Given the description of an element on the screen output the (x, y) to click on. 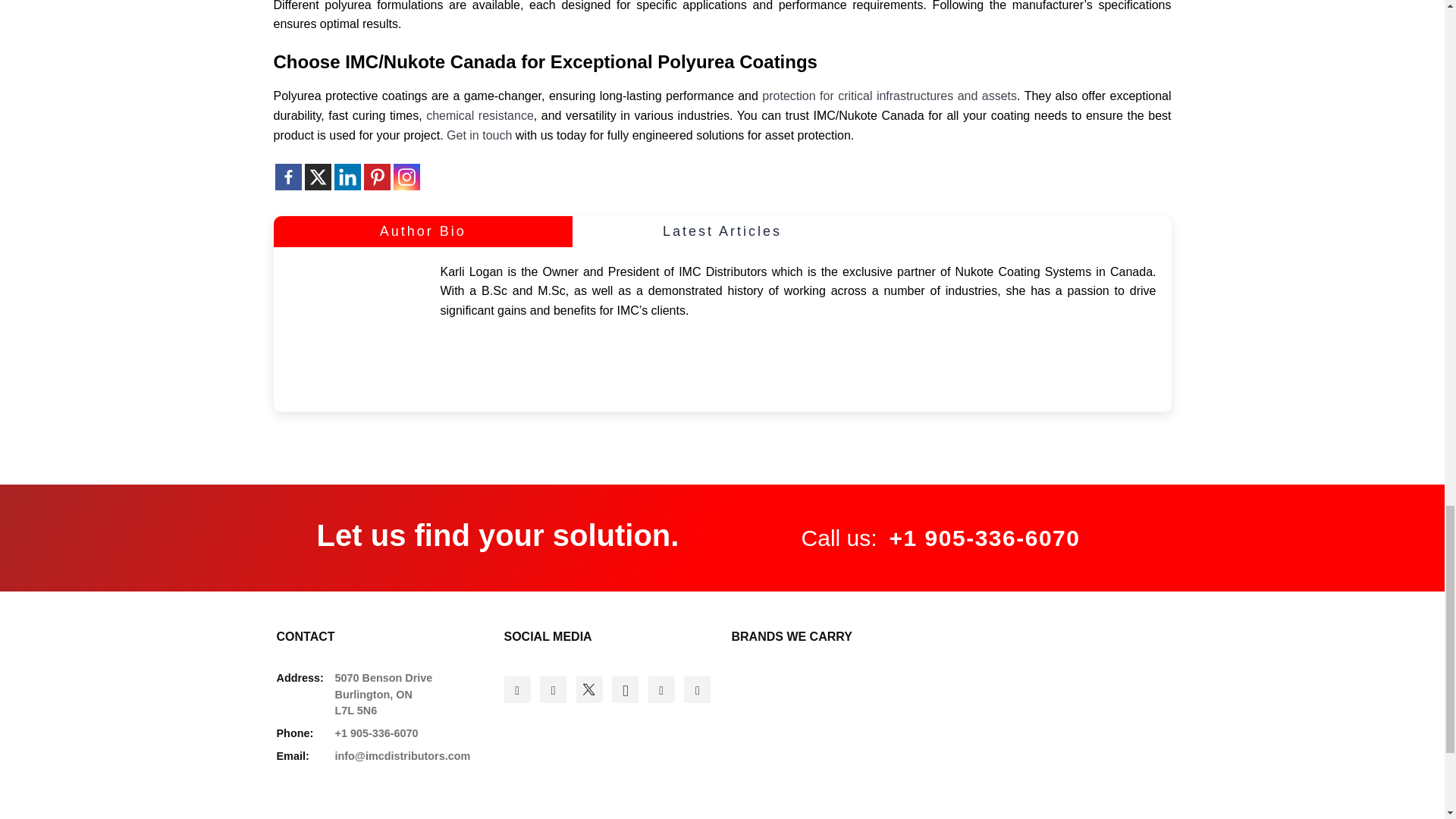
Instagram (406, 176)
Pinterest (377, 176)
Instagram (625, 689)
Facebook (516, 689)
Linkedin (346, 176)
X (317, 176)
Youtube (697, 689)
Linkedin (661, 689)
Google (553, 689)
Twitter (589, 689)
Facebook (288, 176)
